Given the description of an element on the screen output the (x, y) to click on. 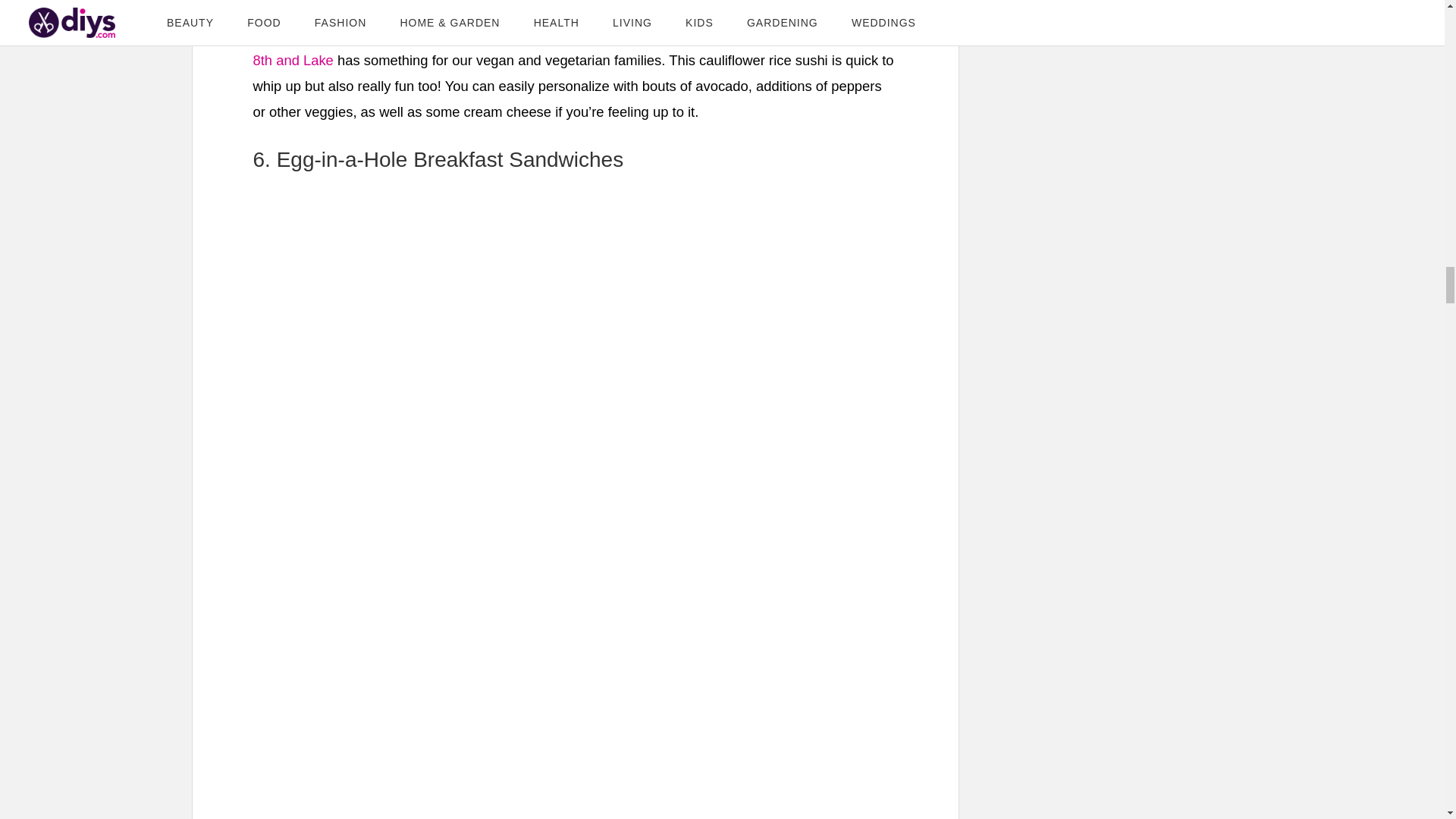
8th and Lake (293, 59)
